Given the description of an element on the screen output the (x, y) to click on. 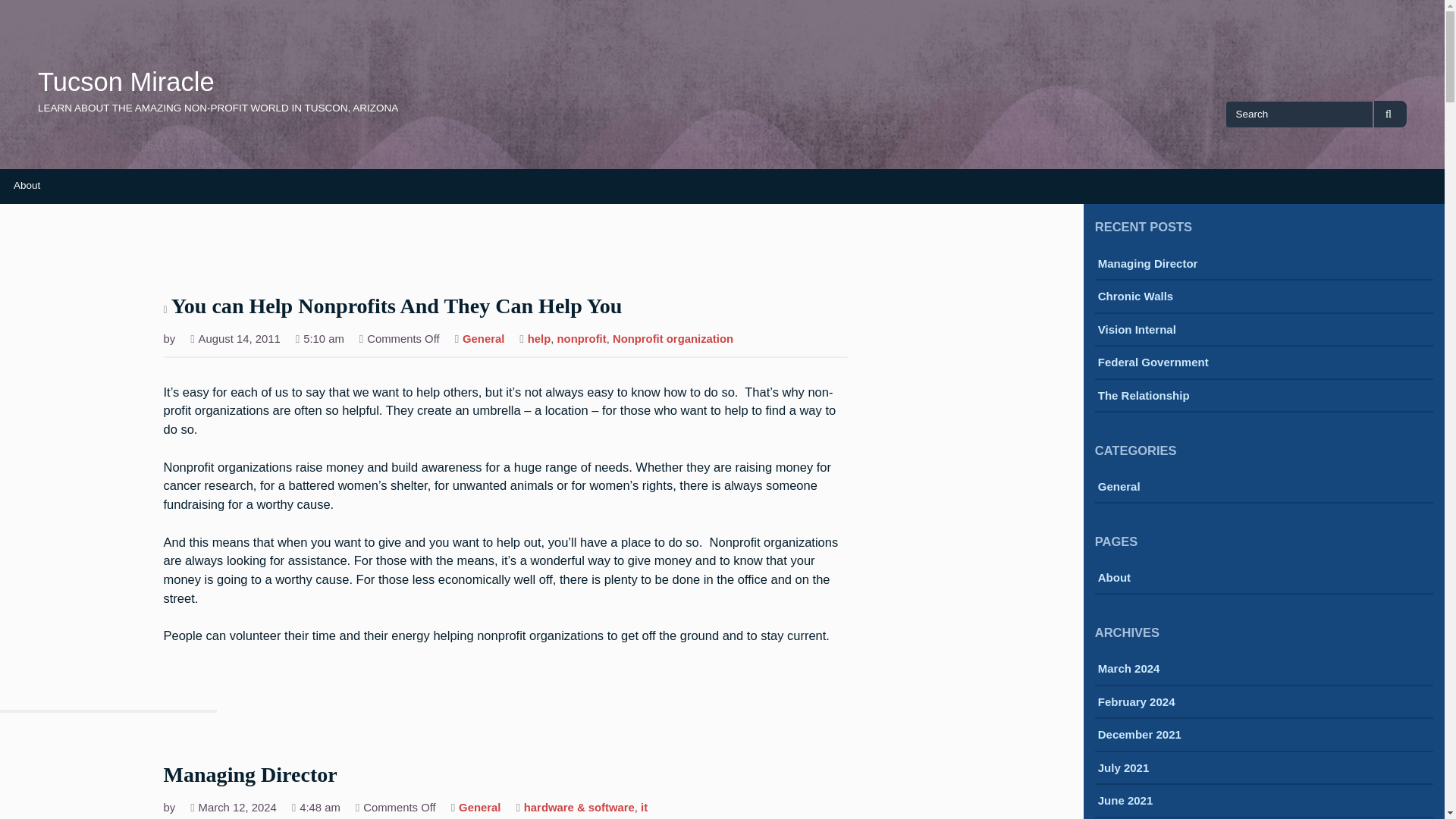
General (483, 340)
Nonprofit organization (672, 340)
Tucson Miracle (125, 81)
Search (1390, 113)
help (539, 340)
General (479, 808)
You can Help Nonprofits And They Can Help You (397, 307)
nonprofit (582, 340)
About (26, 185)
Managing Director (250, 775)
